Given the description of an element on the screen output the (x, y) to click on. 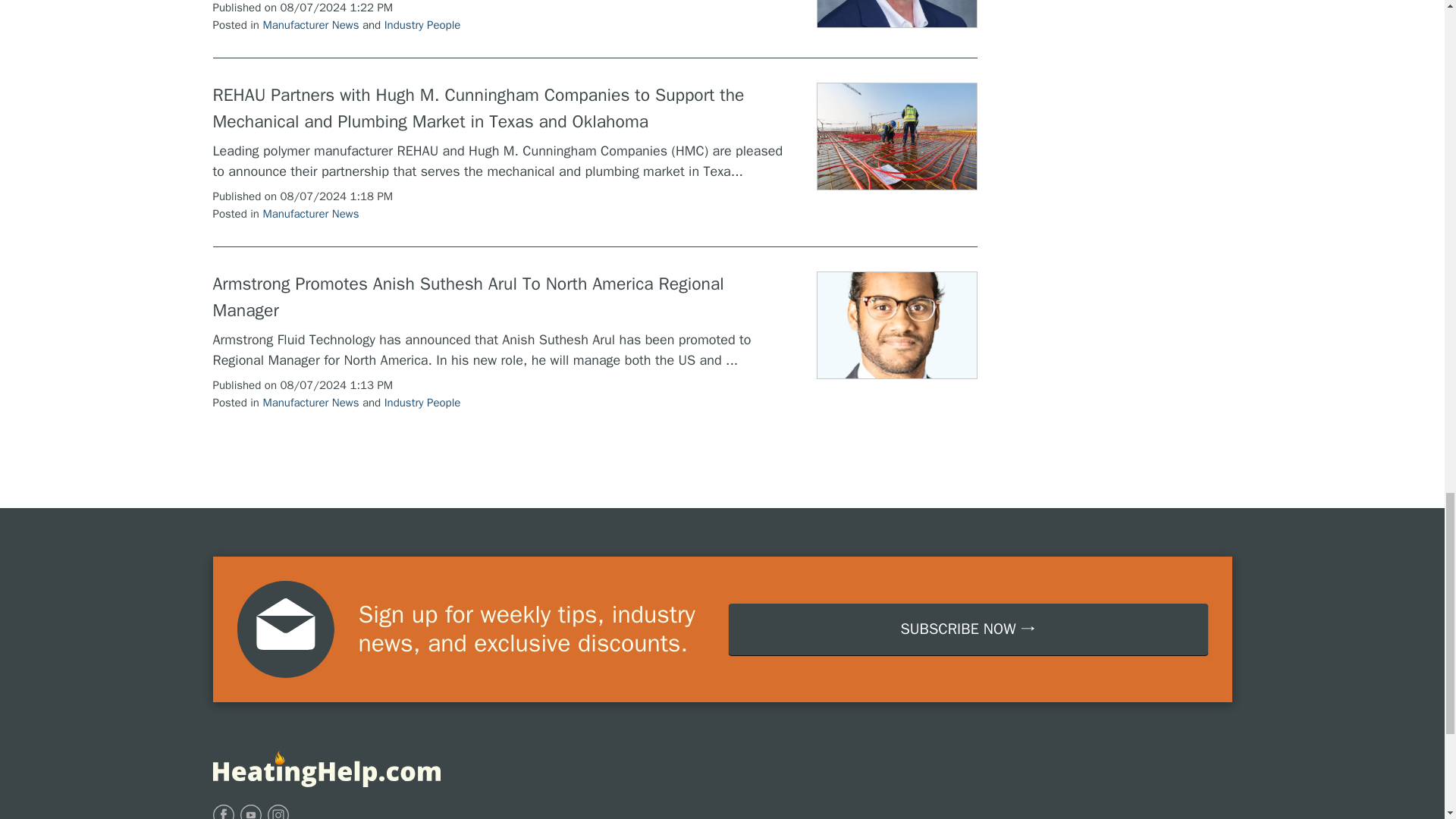
Industry People (422, 402)
Manufacturer News (310, 213)
Manufacturer News (310, 402)
Industry People (422, 24)
Manufacturer News (310, 24)
